Given the description of an element on the screen output the (x, y) to click on. 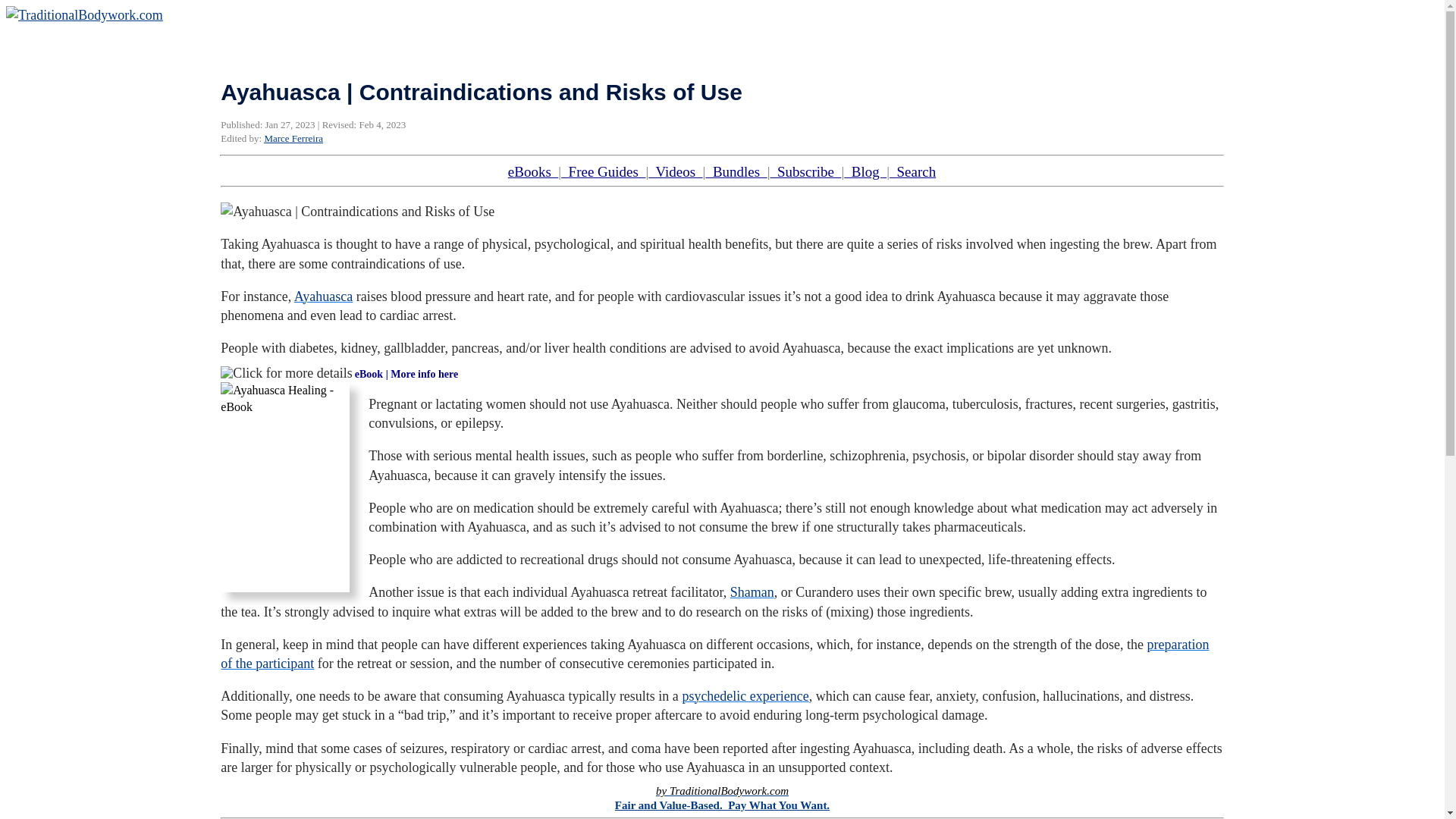
  Videos   (674, 171)
eBooks   (533, 171)
  Blog   (865, 171)
preparation of the participant (714, 653)
Ayahuasca (323, 296)
  Bundles   (735, 171)
  Search (912, 171)
psychedelic experience (744, 695)
Click for more details (286, 373)
  Subscribe   (805, 171)
Marce Ferreira (293, 138)
Shaman (752, 591)
  Free Guides   (602, 171)
Ayahuasca Healing - Book (285, 487)
